Given the description of an element on the screen output the (x, y) to click on. 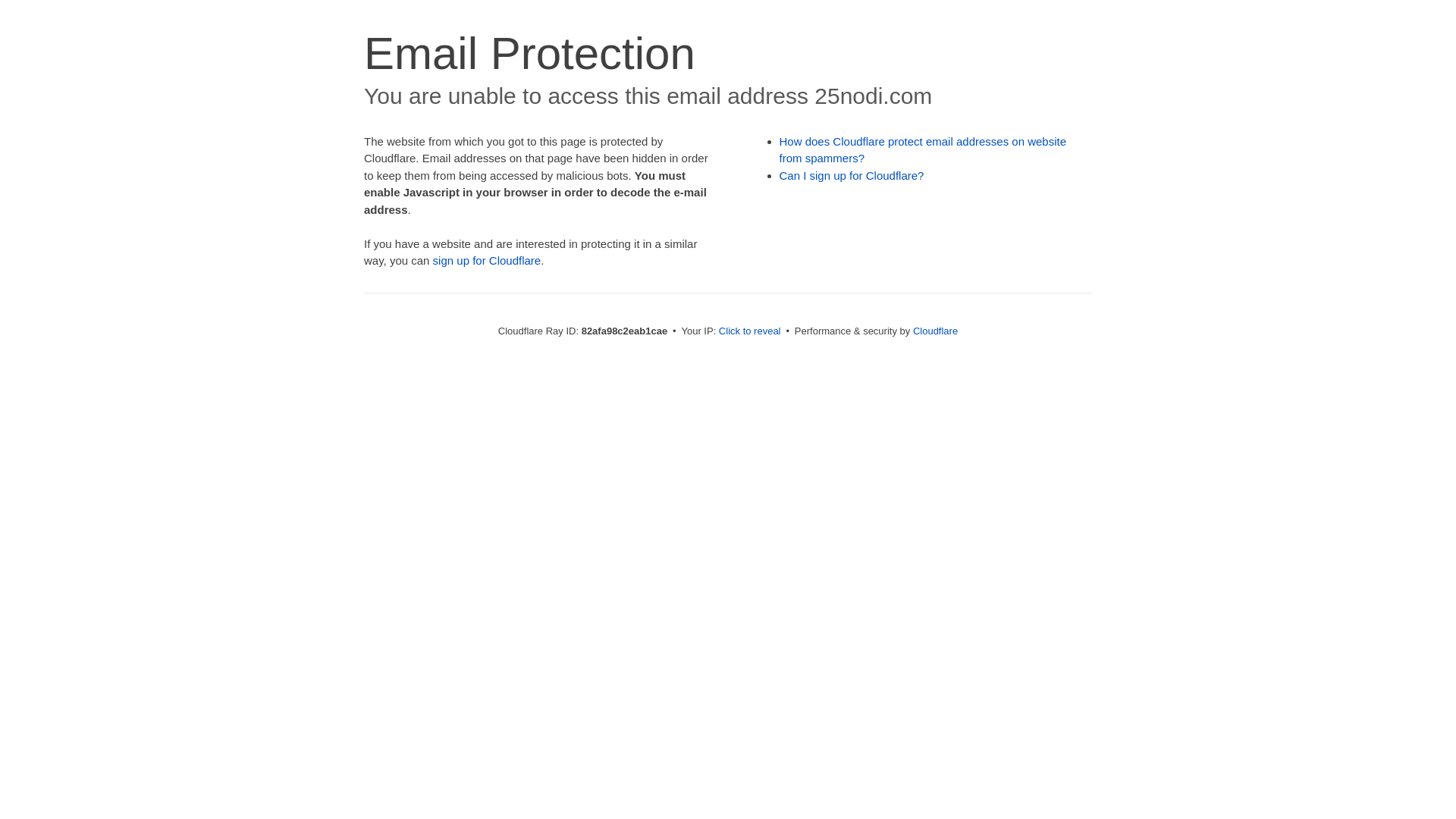
Can I sign up for Cloudflare? Element type: text (851, 175)
Click to reveal Element type: text (749, 330)
Cloudflare Element type: text (935, 330)
sign up for Cloudflare Element type: text (487, 260)
